Given the description of an element on the screen output the (x, y) to click on. 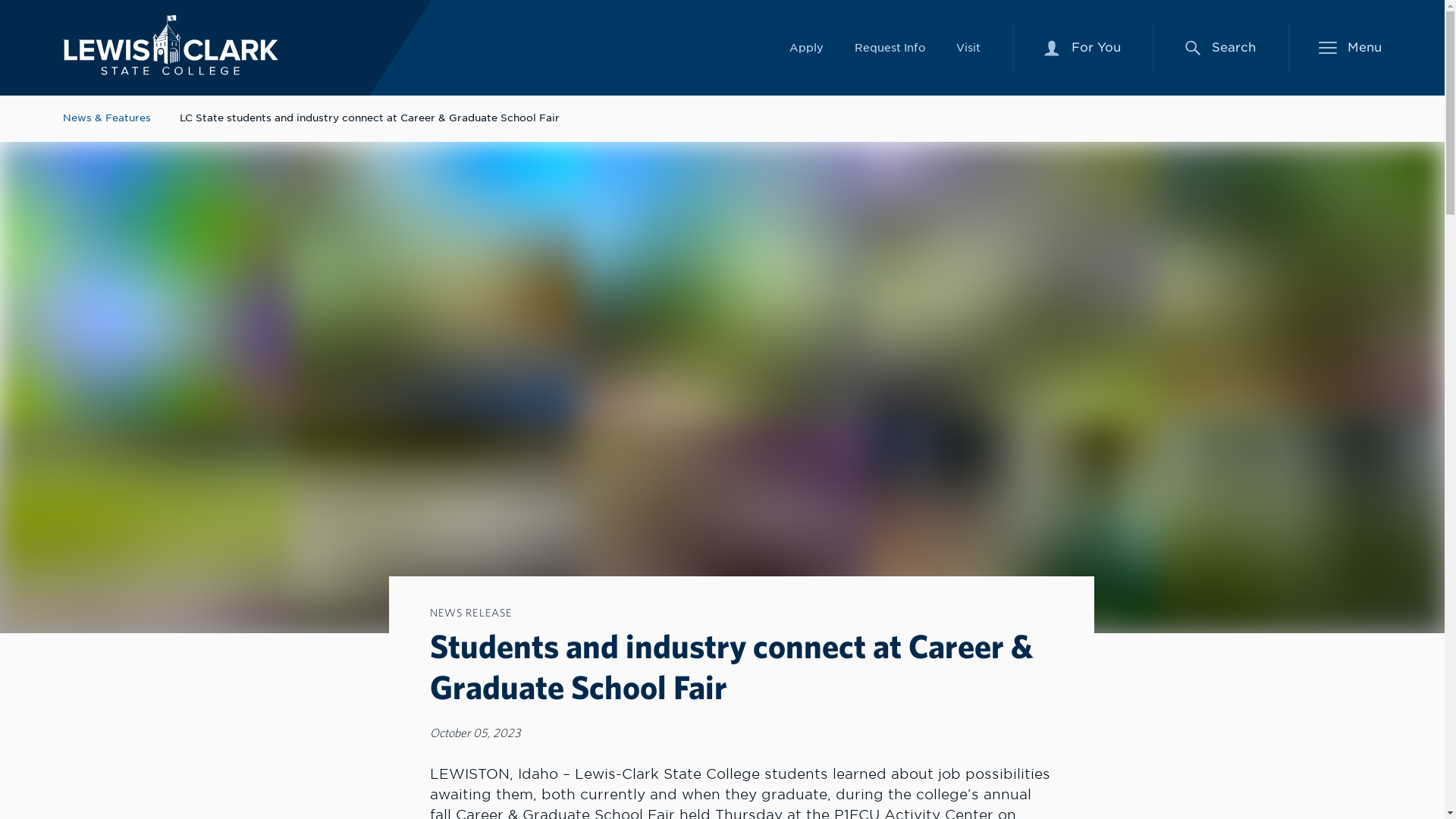
Apply (806, 46)
Lewis-Clark State College (170, 45)
Visit (967, 46)
user--solid (1082, 47)
Request Info (1051, 48)
search-find--solid (888, 46)
